Given the description of an element on the screen output the (x, y) to click on. 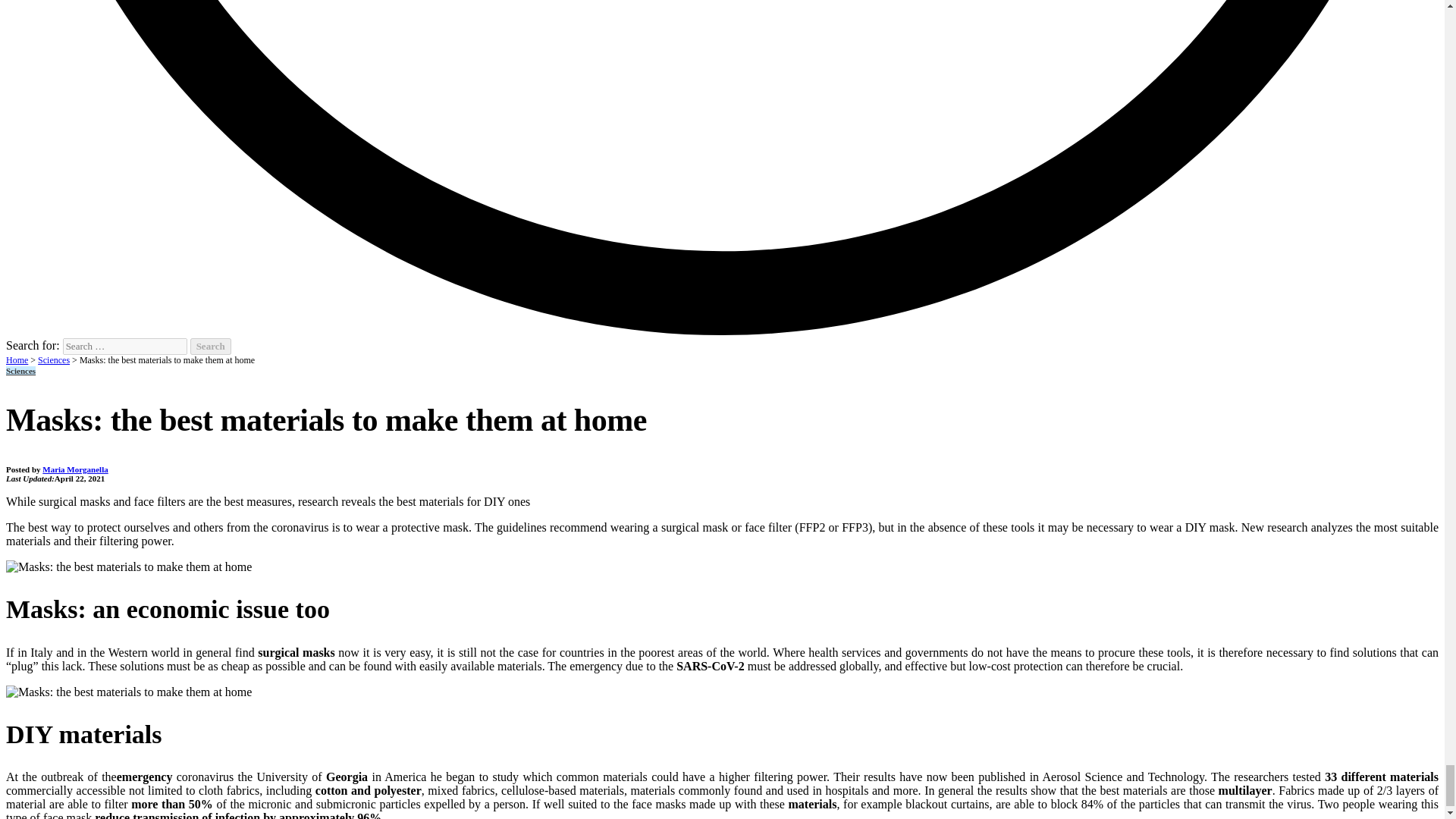
Search (210, 346)
Search (210, 346)
